Given the description of an element on the screen output the (x, y) to click on. 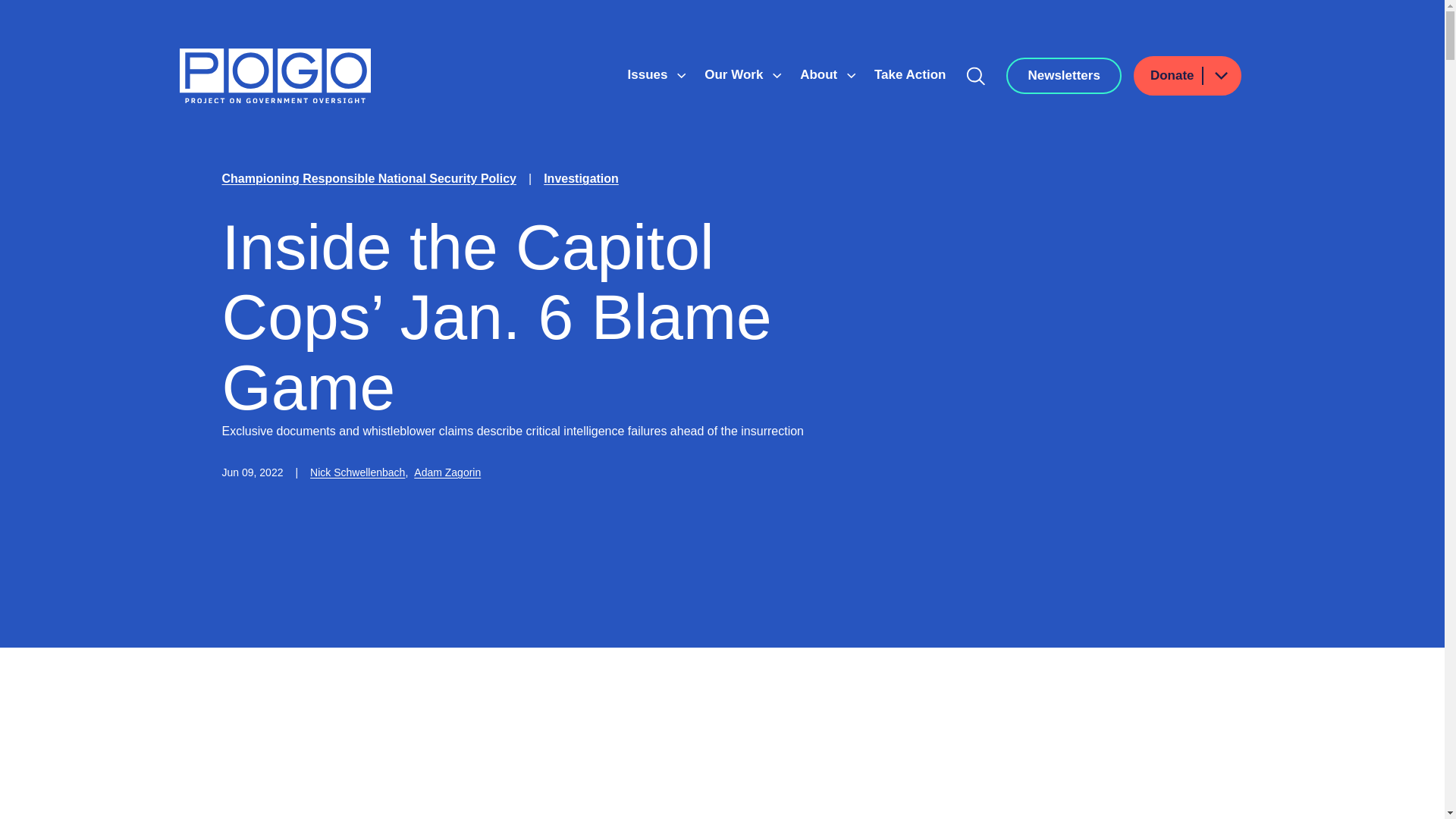
Show submenu for Our Work (777, 75)
Show submenu for Donate (1220, 75)
Search (976, 75)
Take Action (909, 74)
About (820, 74)
Show submenu for About (851, 75)
Issues (649, 74)
Donate (1187, 75)
Our Work (735, 74)
Home (274, 75)
Show submenu for Issues (681, 75)
Newsletters (1063, 75)
